Given the description of an element on the screen output the (x, y) to click on. 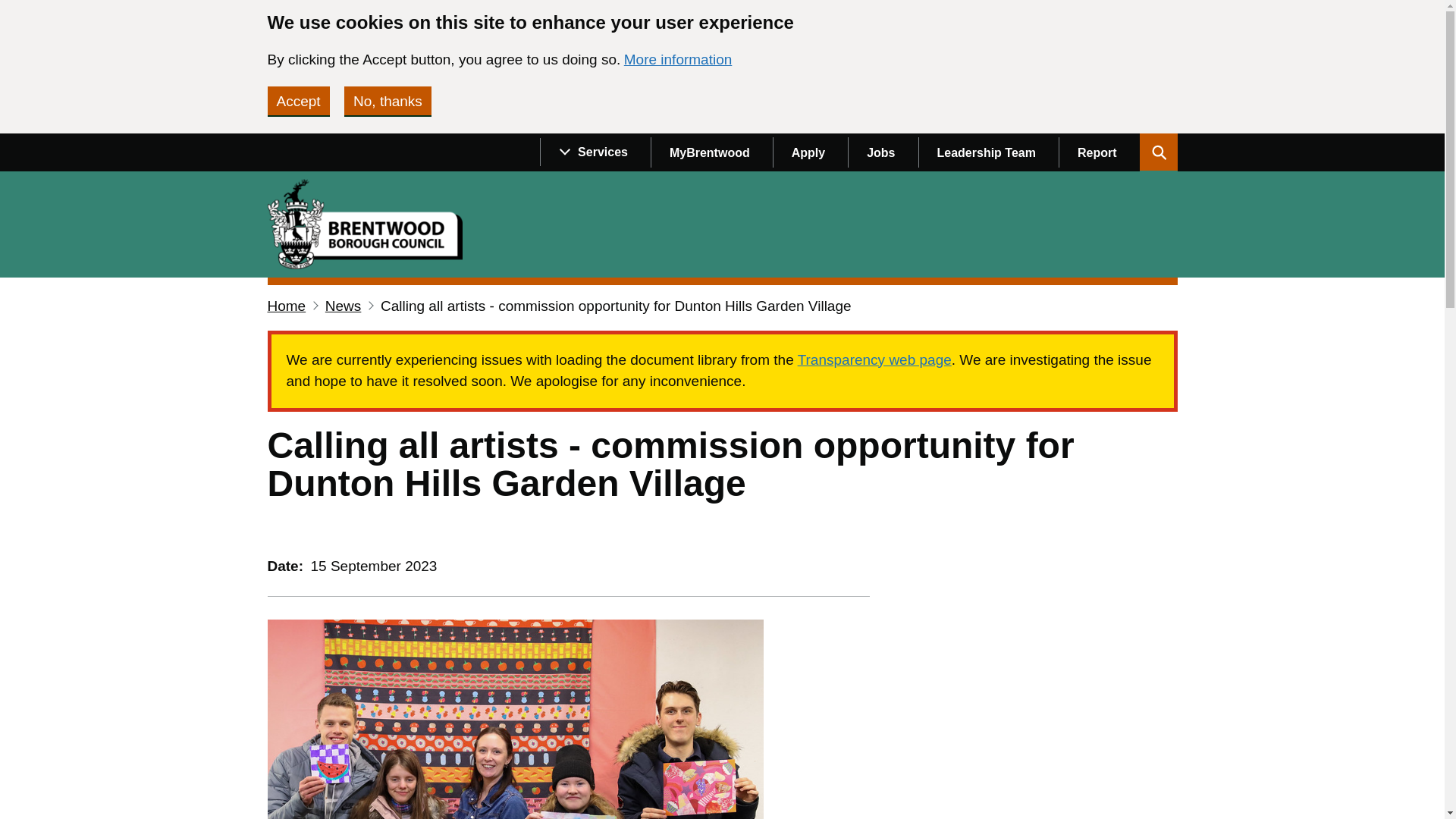
Search this site (1157, 152)
Accept (297, 100)
Apply (810, 152)
Skip to main content (11, 140)
Leadership Team (988, 152)
Home (370, 224)
Home (285, 304)
Services (595, 152)
News (342, 304)
Transparency web page (874, 359)
No, thanks (386, 100)
MyBrentwood (711, 152)
More information (678, 58)
Jobs (882, 152)
Report (1099, 152)
